Given the description of an element on the screen output the (x, y) to click on. 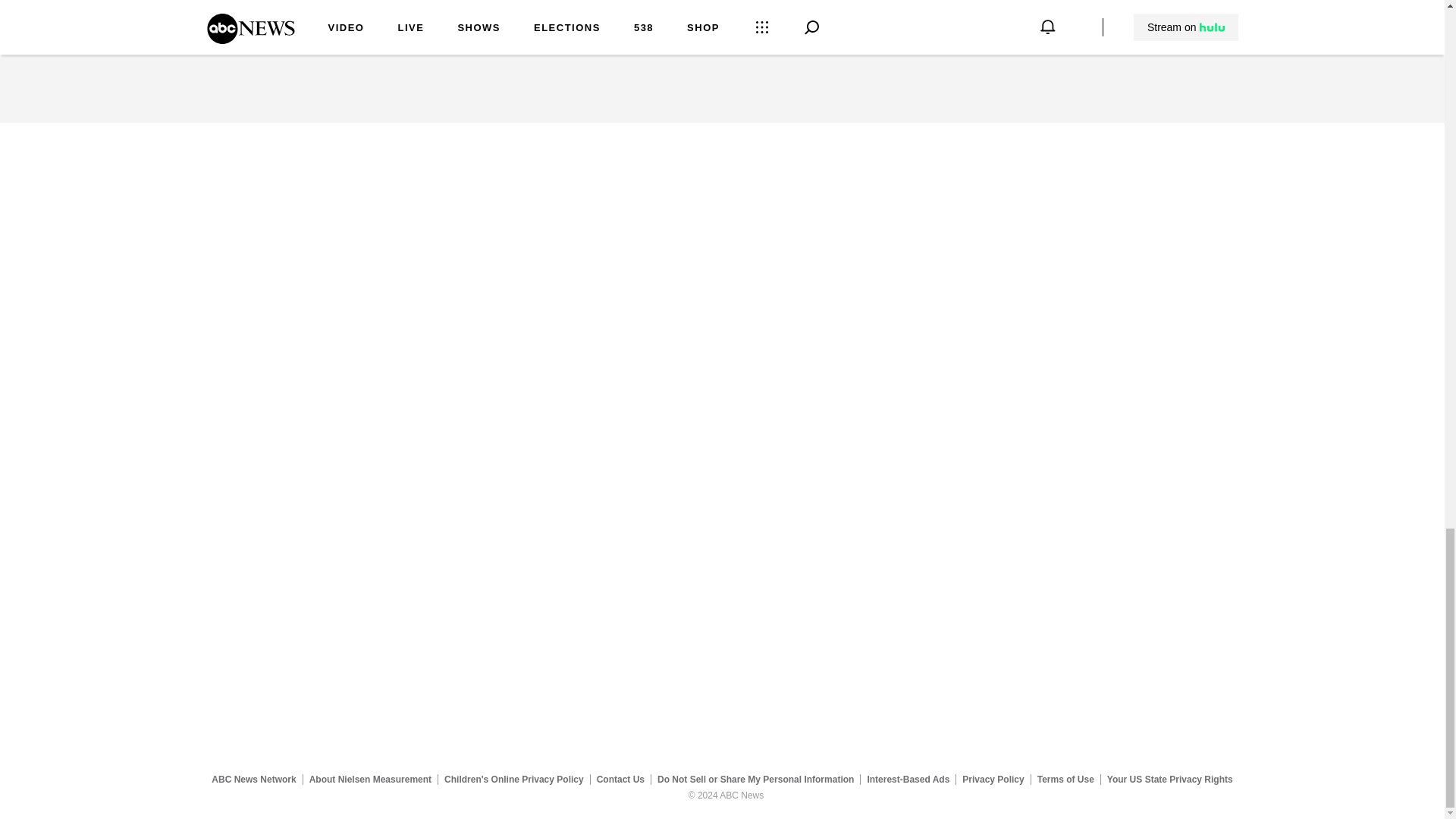
Children's Online Privacy Policy (514, 778)
About Nielsen Measurement (370, 778)
Do Not Sell or Share My Personal Information (755, 778)
Interest-Based Ads (908, 778)
Contact Us (620, 778)
Terms of Use (1065, 778)
ABC News Network (253, 778)
Privacy Policy (993, 778)
Your US State Privacy Rights (1169, 778)
